Given the description of an element on the screen output the (x, y) to click on. 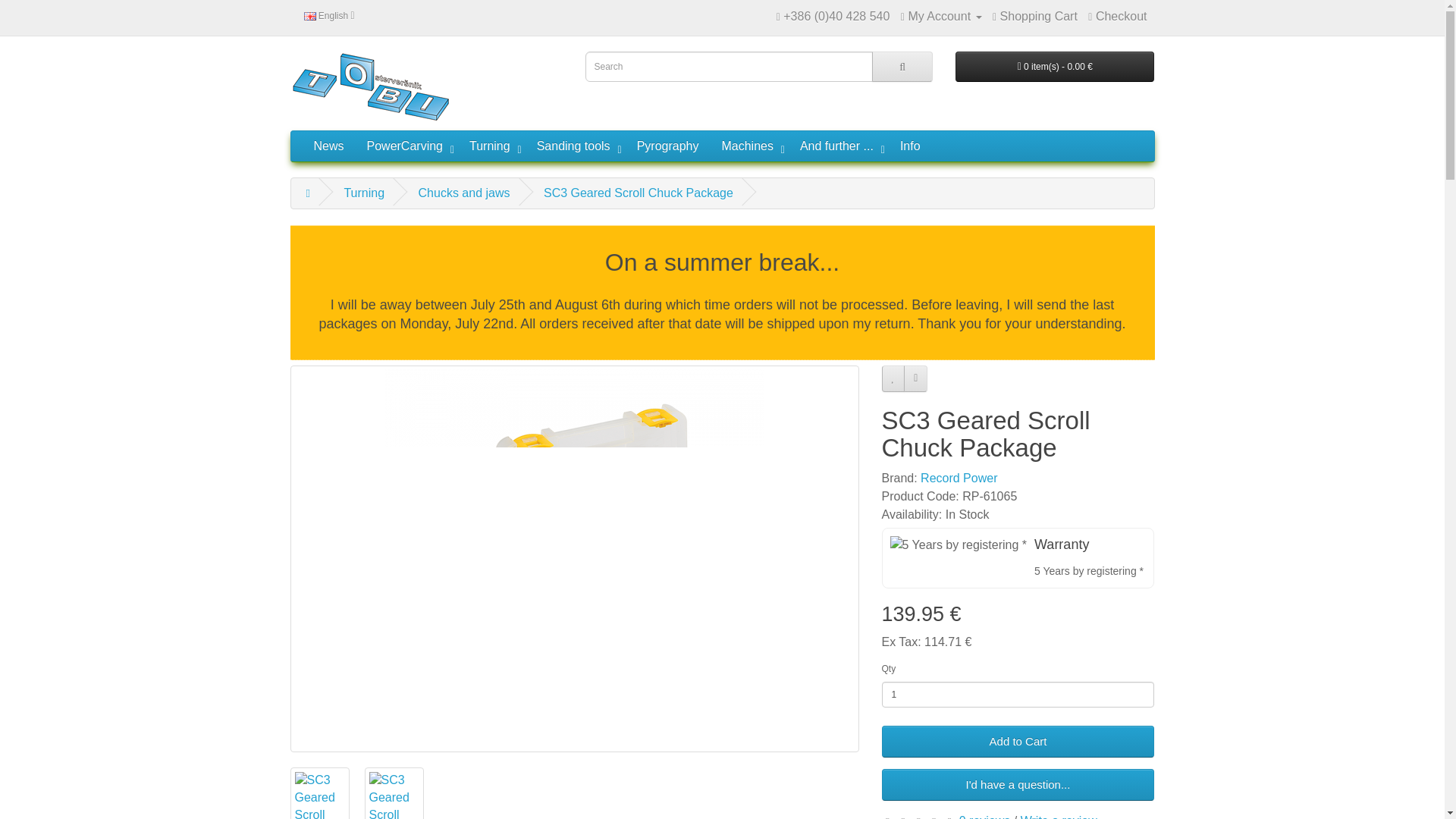
SC3 Geared Scroll Chuck Package (393, 793)
My Account (941, 15)
Compare this Product (915, 378)
Turning (491, 146)
PowerCarving (406, 146)
Shopping Cart (1034, 15)
English (329, 15)
1 (1017, 694)
SC3 Geared Scroll Chuck Package (319, 793)
My Account (941, 15)
News (328, 146)
SC3 Geared Scroll Chuck Package (318, 795)
TO BI d.o.o. (370, 86)
